Given the description of an element on the screen output the (x, y) to click on. 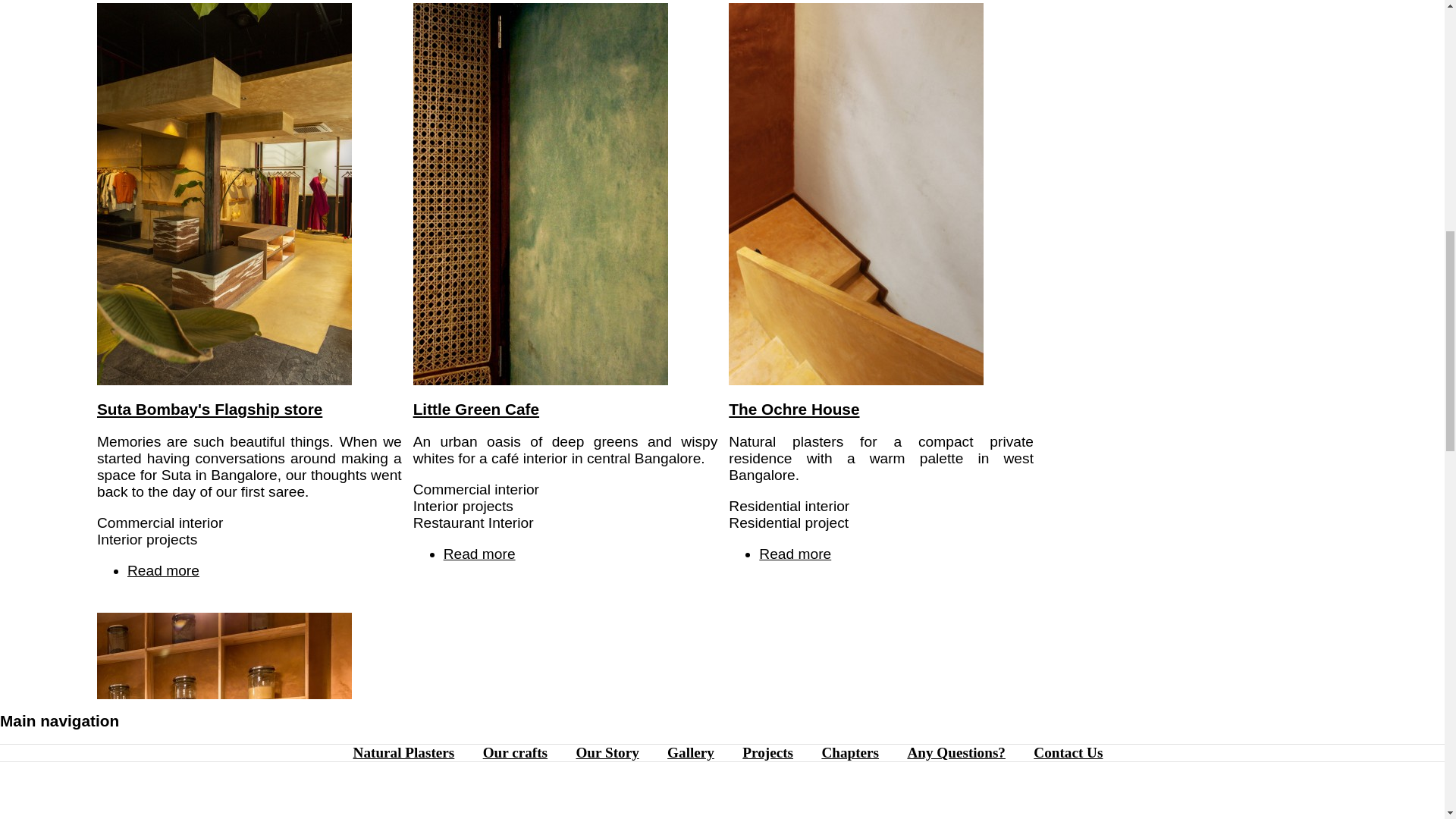
Suta Bombay's Flagship store (209, 408)
The Ochre House (163, 570)
Suta Bombay's Flagship store (794, 408)
Little Green Cafe (163, 570)
Little Green Cafe (540, 387)
Little Green Cafe (479, 553)
